Given the description of an element on the screen output the (x, y) to click on. 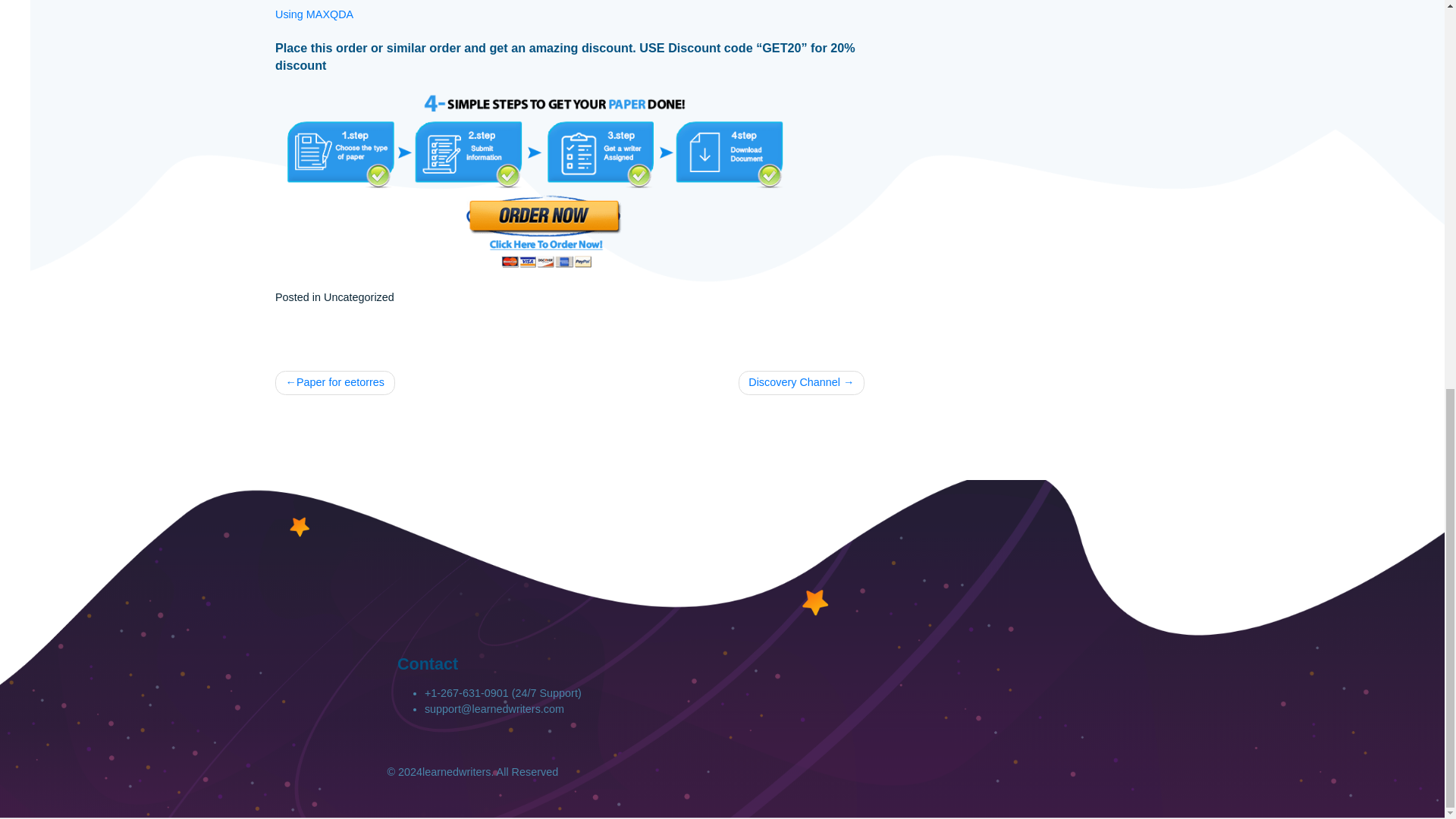
Discovery Channel (890, 506)
Using MAXQDA (349, 97)
Paper for eetorres (371, 506)
